Given the description of an element on the screen output the (x, y) to click on. 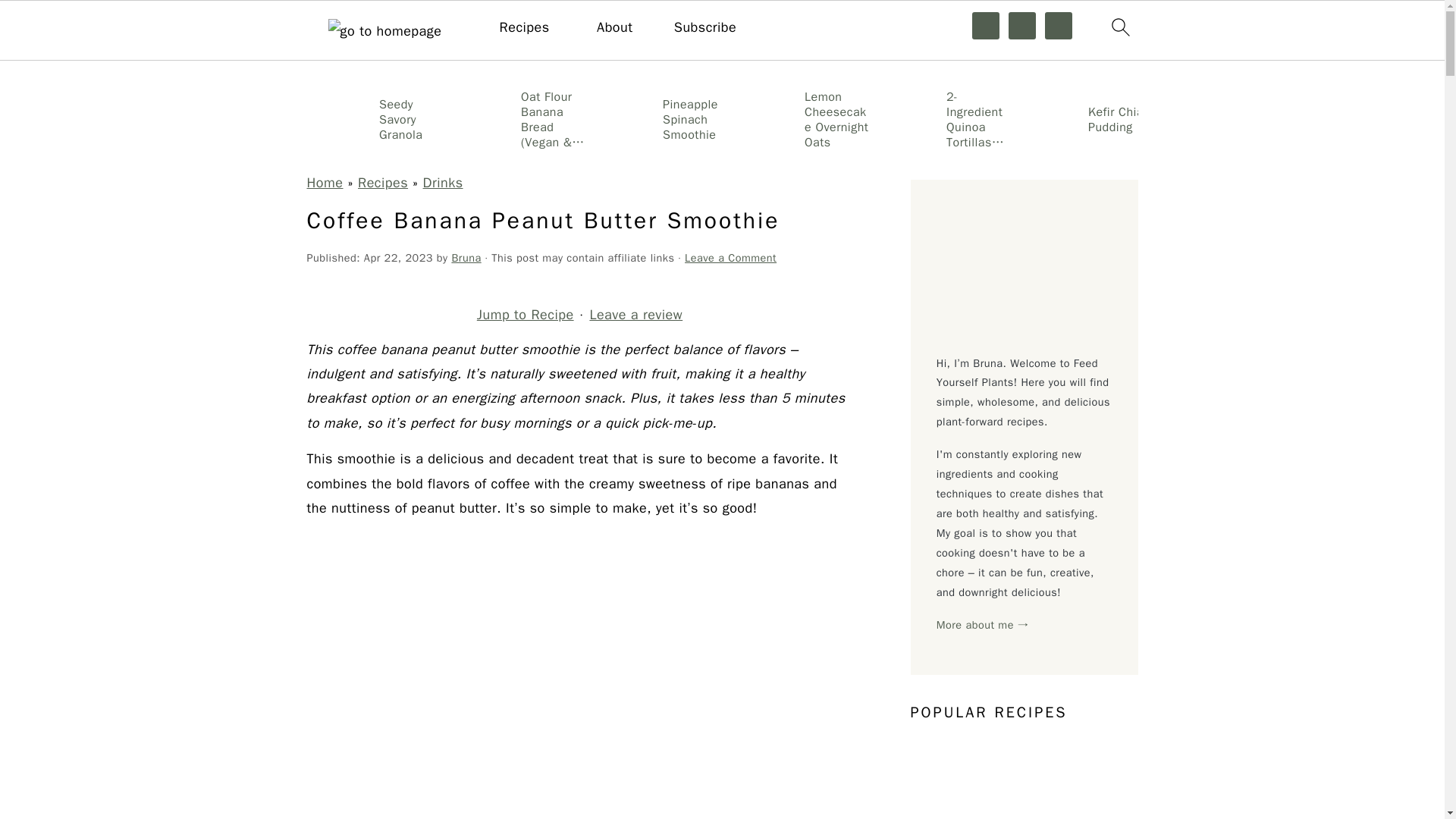
Seedy Savory Granola (373, 118)
Pineapple Spinach Smoothie (657, 118)
Drinks (443, 182)
Recipes (524, 27)
Recipes (382, 182)
Subscribe (705, 27)
Home (323, 182)
Strawberry Banana Baked Oatmeal (1367, 118)
Lemon Cheesecake Overnight Oats (800, 118)
search icon (1119, 26)
search icon (1119, 31)
Bruna (465, 257)
Kefir Chia Pudding (1084, 118)
About (613, 27)
